Given the description of an element on the screen output the (x, y) to click on. 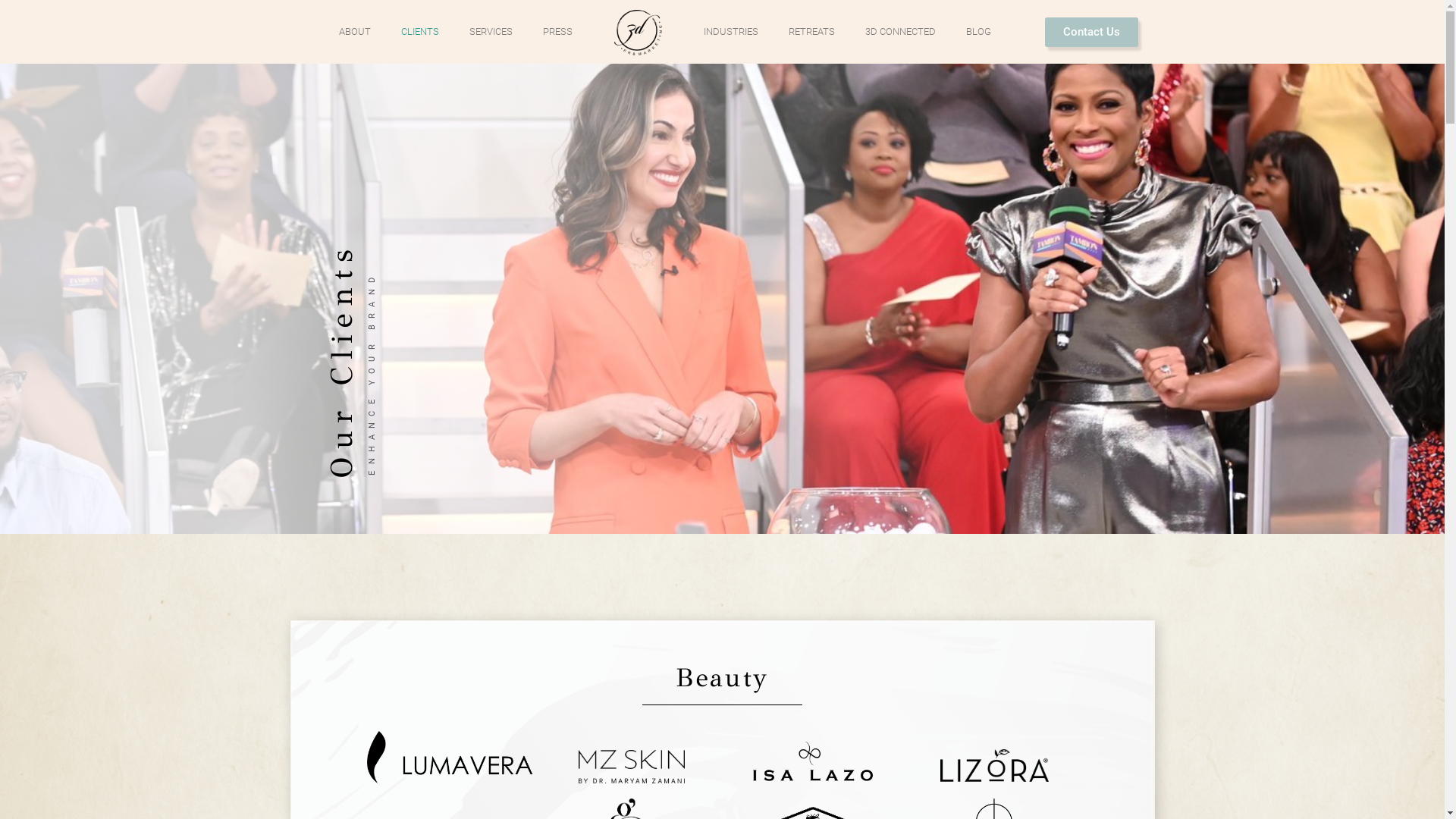
BLOG Element type: text (978, 31)
INDUSTRIES Element type: text (730, 31)
SERVICES Element type: text (490, 31)
Contact Us Element type: text (1091, 32)
3D CONNECTED Element type: text (900, 31)
CLIENTS Element type: text (419, 31)
ABOUT Element type: text (354, 31)
RETREATS Element type: text (811, 31)
PRESS Element type: text (557, 31)
